Given the description of an element on the screen output the (x, y) to click on. 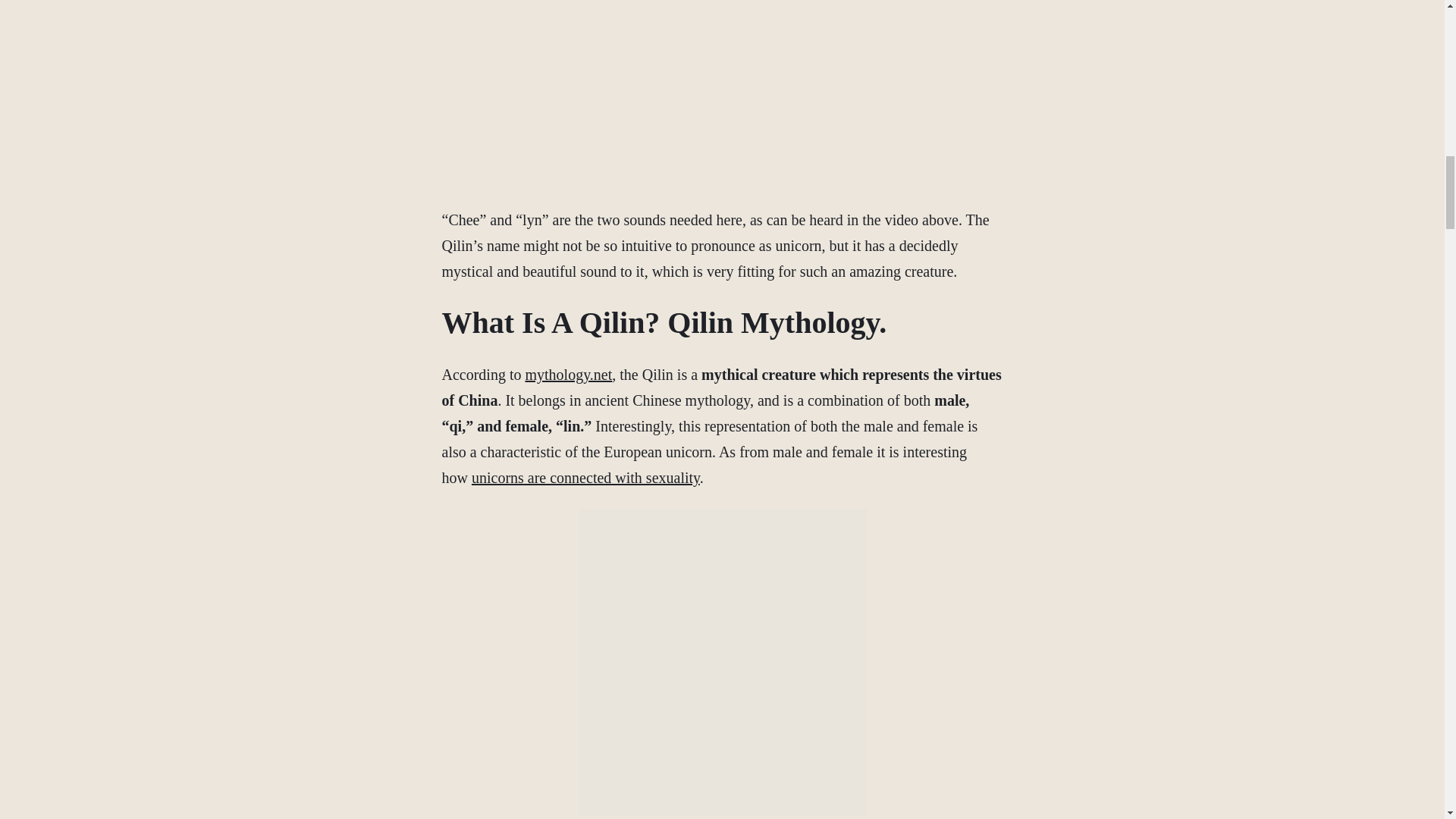
mythology.net (567, 374)
unicorns are connected with sexuality (585, 477)
How To Say Qilin (797, 90)
